Given the description of an element on the screen output the (x, y) to click on. 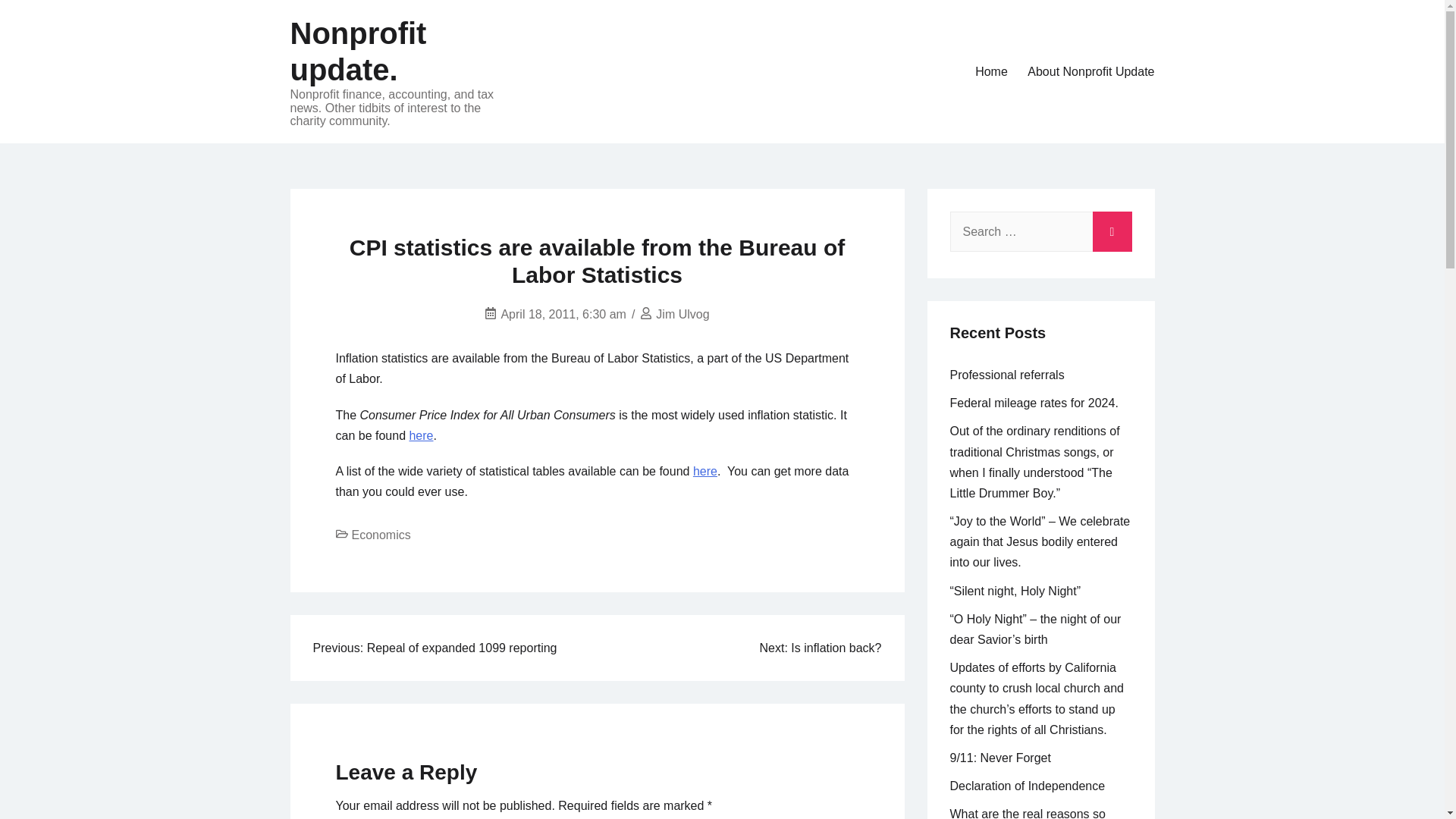
April 18, 2011, 6:30 am (563, 314)
here (420, 435)
Search (1111, 227)
here (705, 471)
Economics (381, 534)
Home (991, 71)
Declaration of Independence (1027, 785)
Jim Ulvog (682, 314)
About Nonprofit Update (1090, 71)
